Given the description of an element on the screen output the (x, y) to click on. 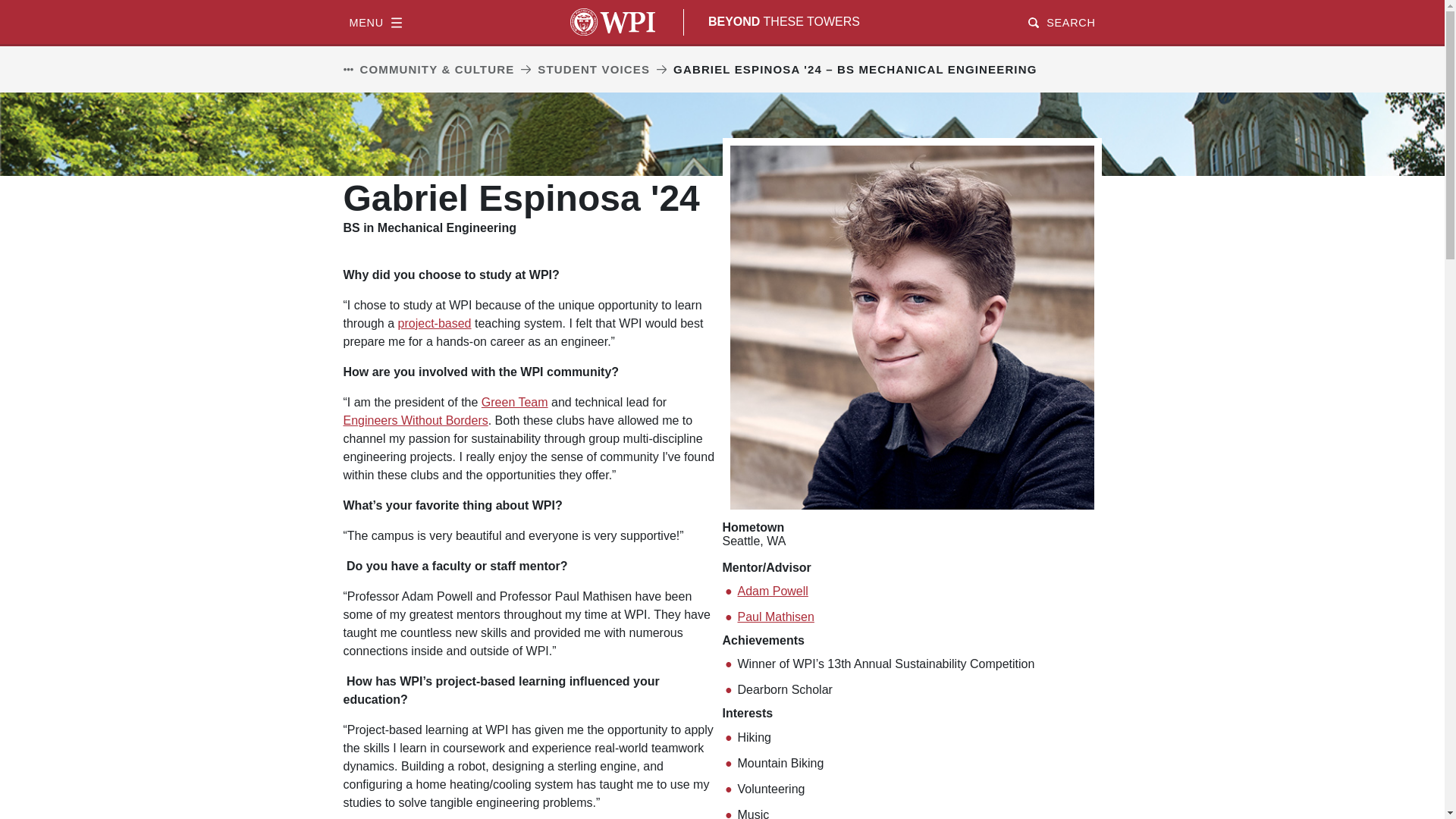
Skip to main content (721, 1)
WPI Home (612, 22)
MENU (374, 21)
SEARCH (1061, 21)
BEYOND THESE TOWERS (783, 21)
